Given the description of an element on the screen output the (x, y) to click on. 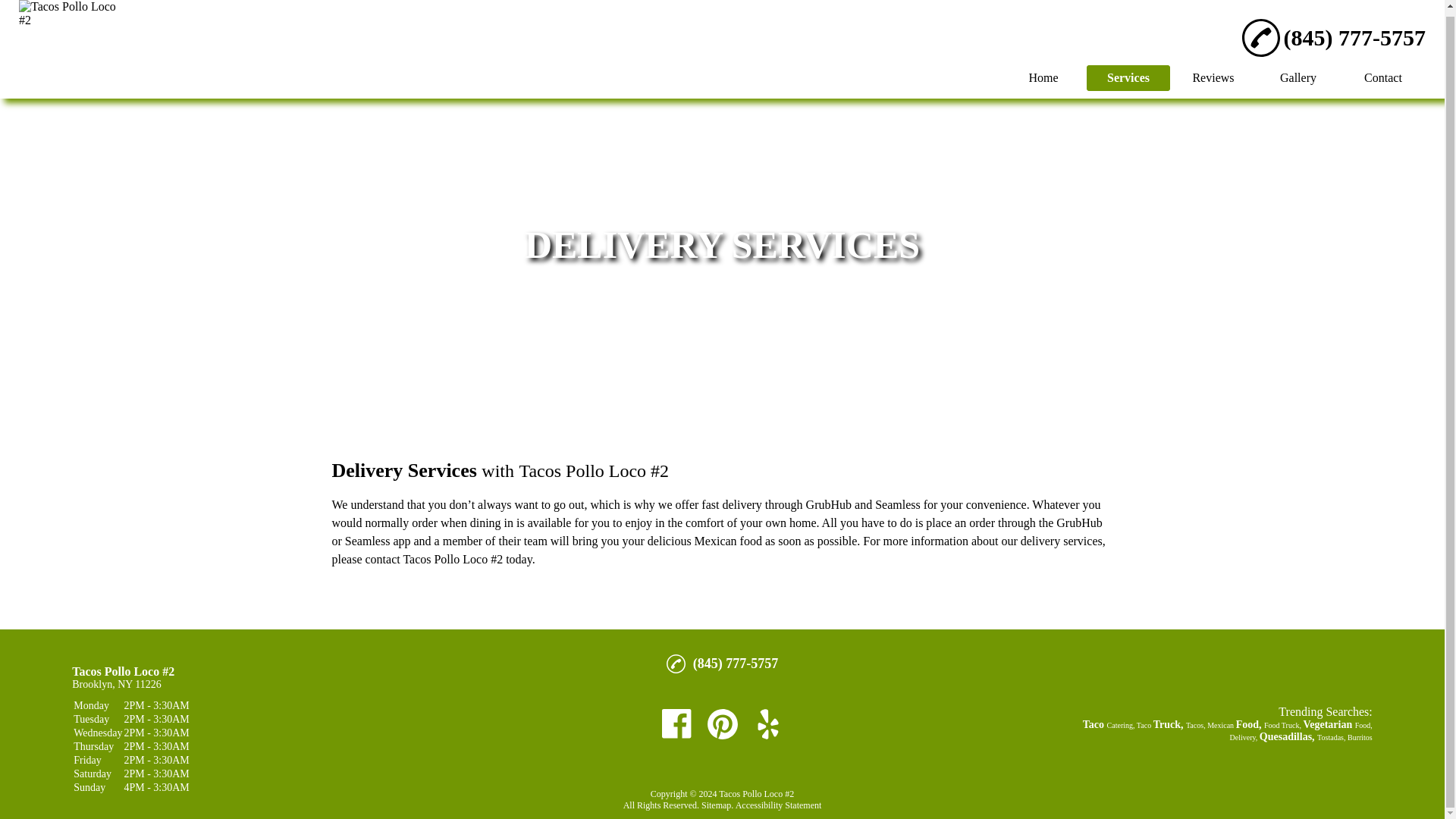
Sitemap. (715, 805)
Accessibility Statement (778, 805)
Contact (1382, 71)
Home (1042, 72)
Gallery (1297, 71)
Reviews (1213, 71)
